Given the description of an element on the screen output the (x, y) to click on. 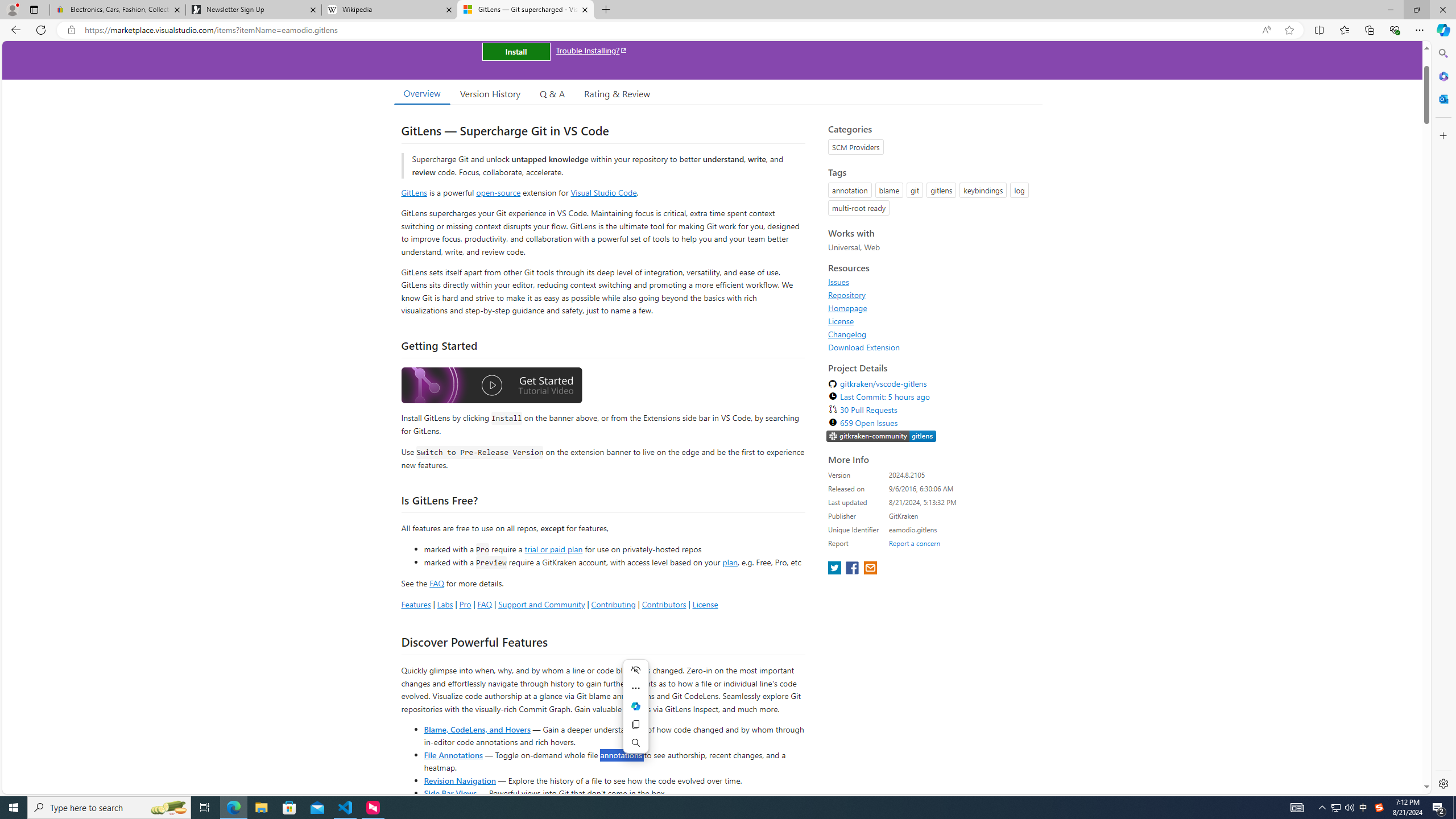
Newsletter Sign Up (253, 9)
https://slack.gitkraken.com// (881, 436)
Issues (838, 281)
Pro (464, 603)
File Annotations (453, 754)
Watch the GitLens Getting Started video (491, 387)
